Given the description of an element on the screen output the (x, y) to click on. 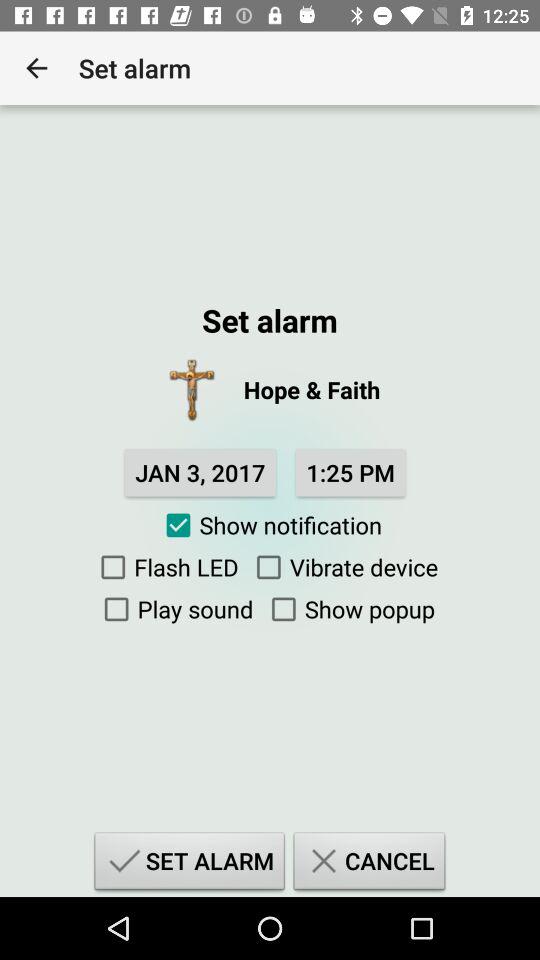
select the item below hope & faith (350, 472)
